Given the description of an element on the screen output the (x, y) to click on. 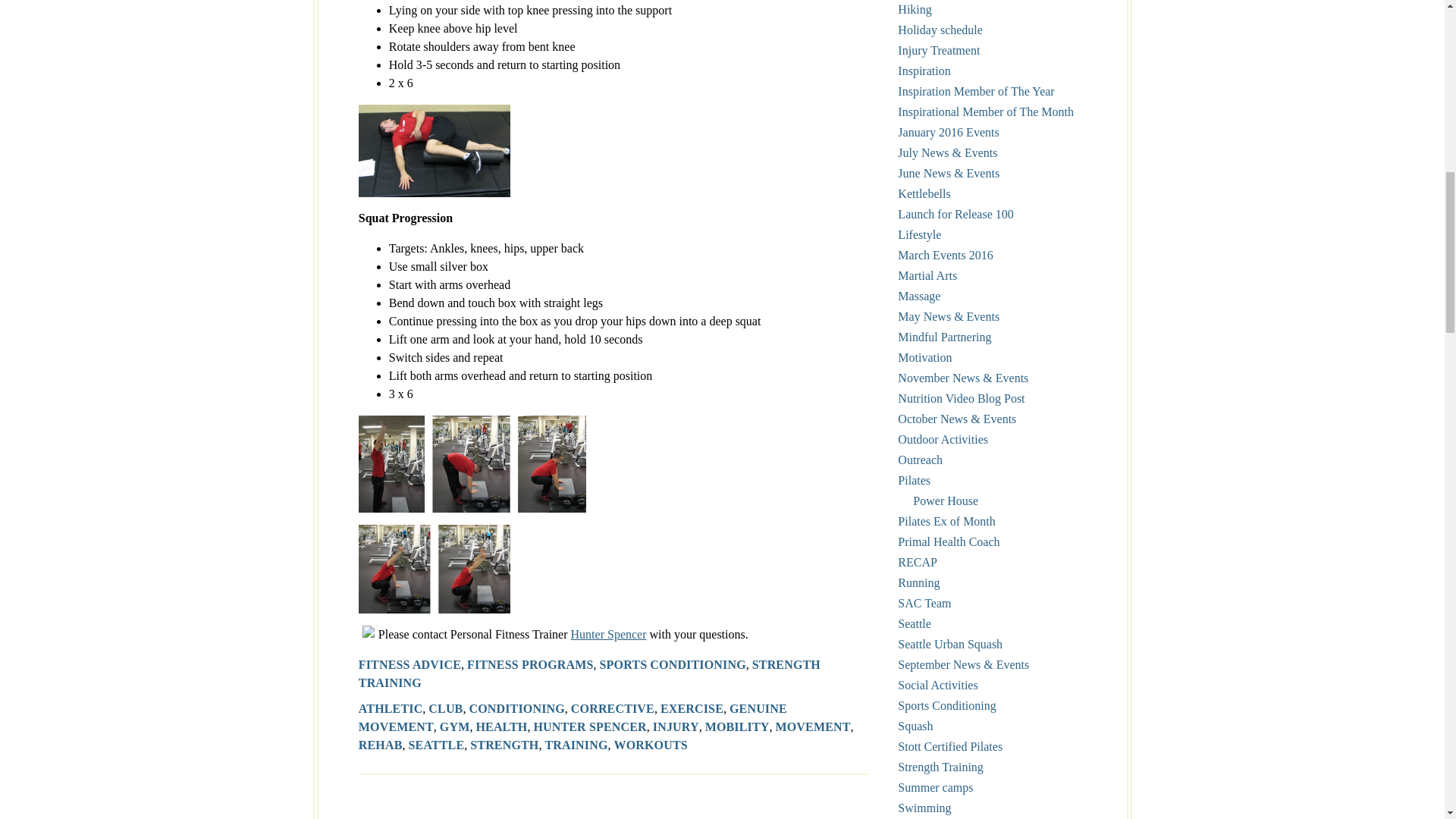
EXERCISE (692, 707)
GENUINE MOVEMENT (572, 717)
SEATTLE (435, 744)
REHAB (380, 744)
ATHLETIC (390, 707)
HEALTH (501, 726)
WORKOUTS (650, 744)
CONDITIONING (516, 707)
CORRECTIVE (611, 707)
MOVEMENT (812, 726)
